Given the description of an element on the screen output the (x, y) to click on. 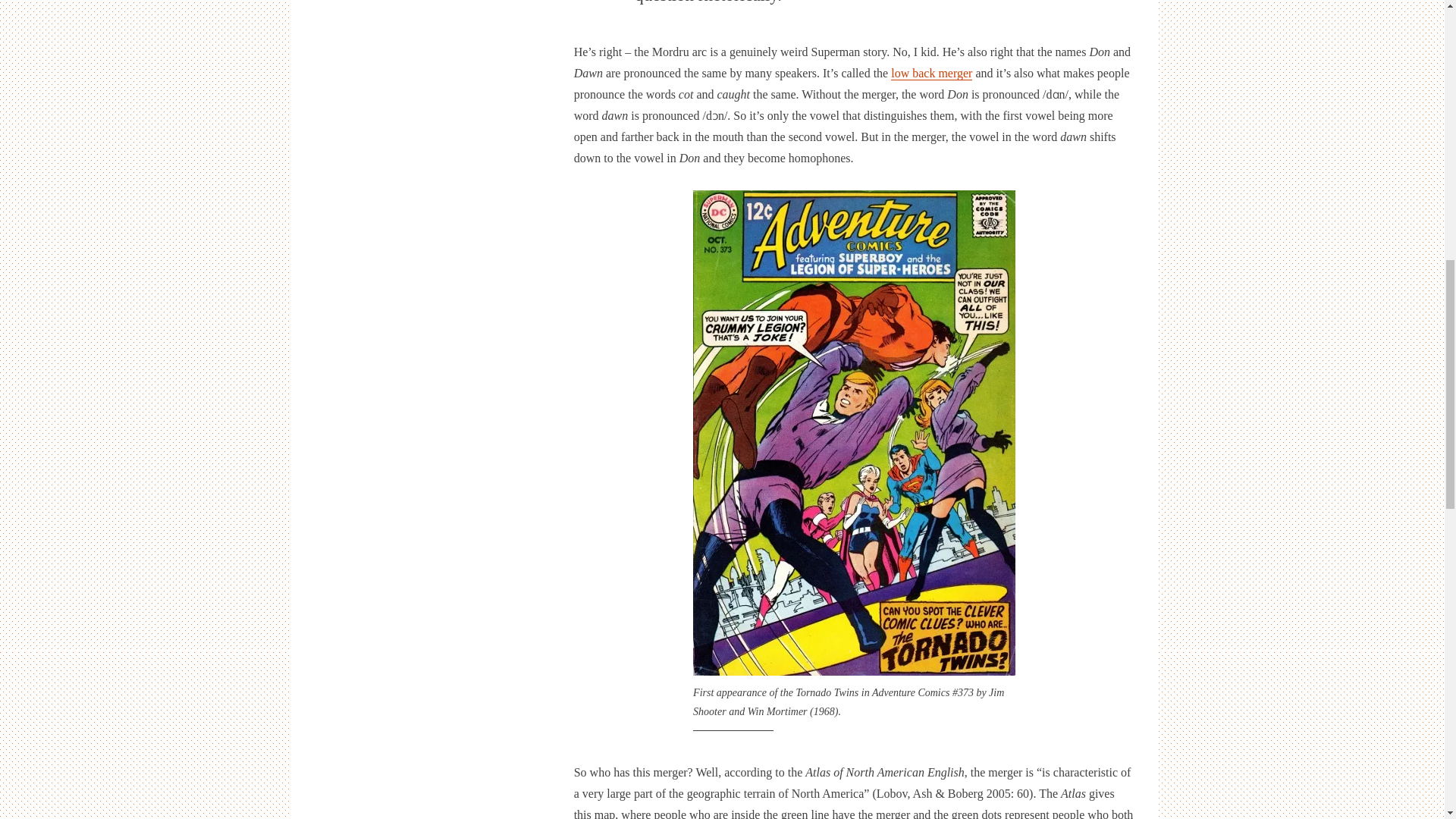
low back merger (931, 72)
